Given the description of an element on the screen output the (x, y) to click on. 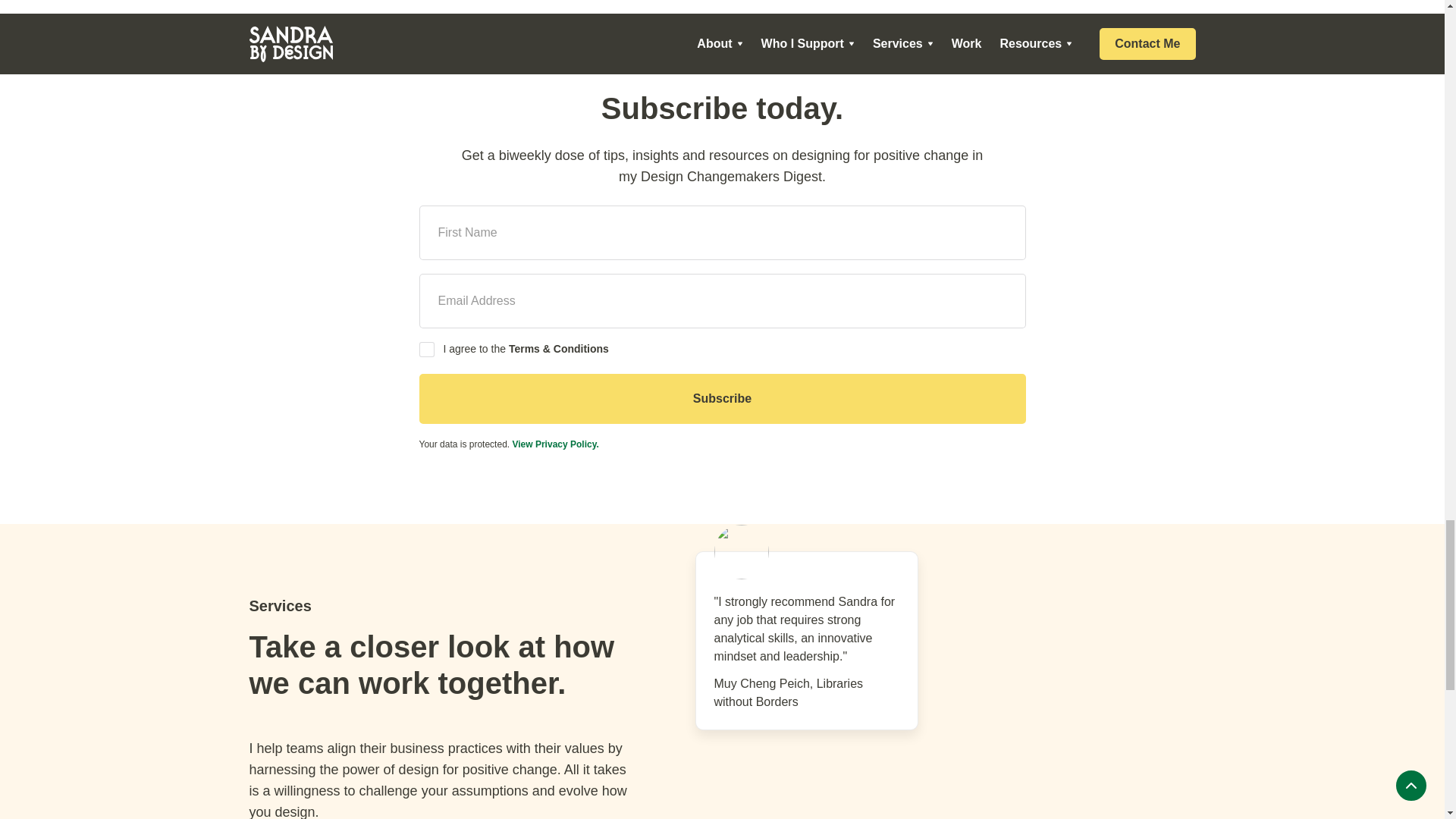
Subscribe (722, 398)
Subscribe (722, 398)
View Privacy Policy. (555, 443)
